Given the description of an element on the screen output the (x, y) to click on. 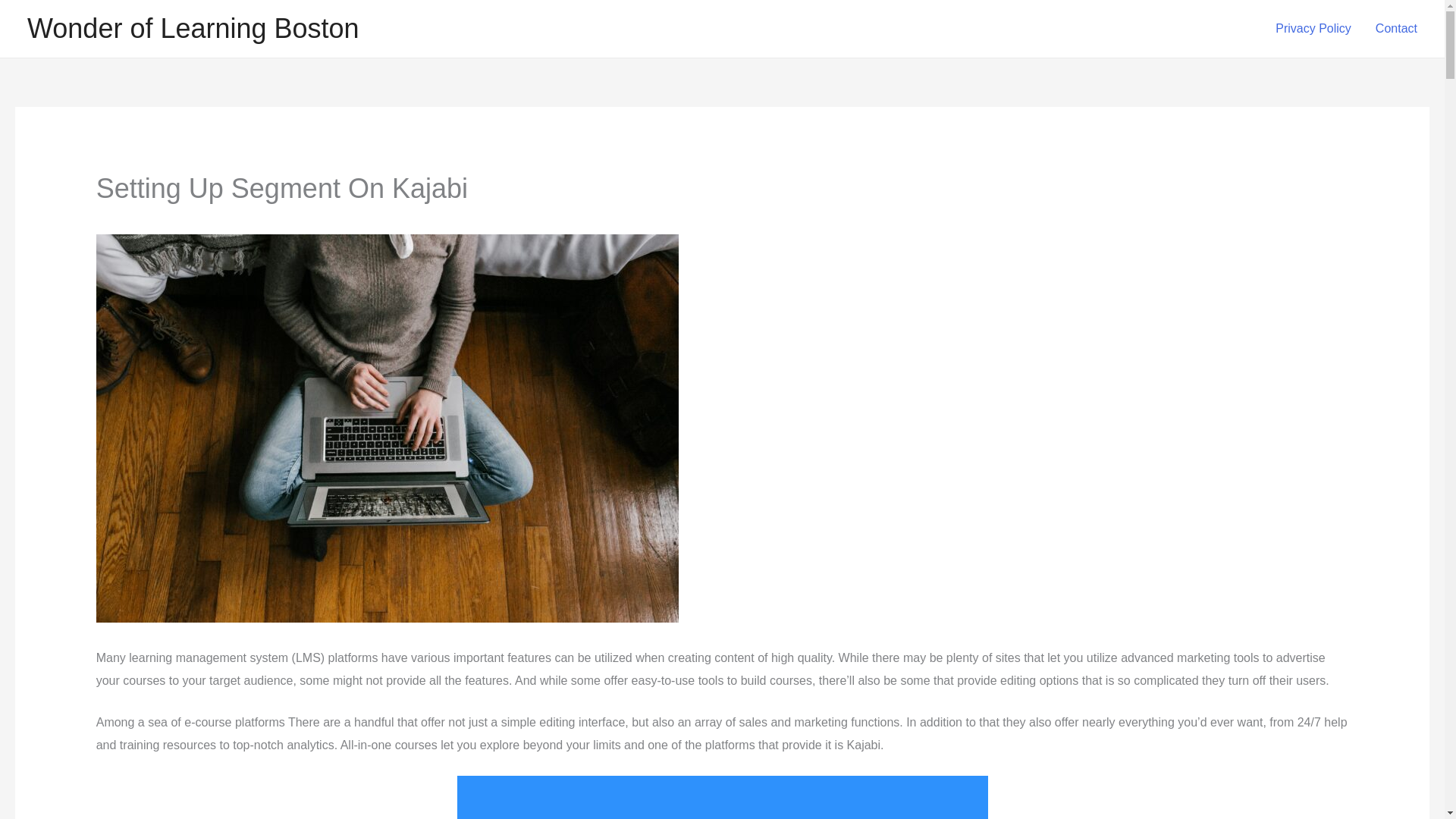
Contact (1395, 28)
Wonder of Learning Boston (193, 28)
Privacy Policy (1312, 28)
